Given the description of an element on the screen output the (x, y) to click on. 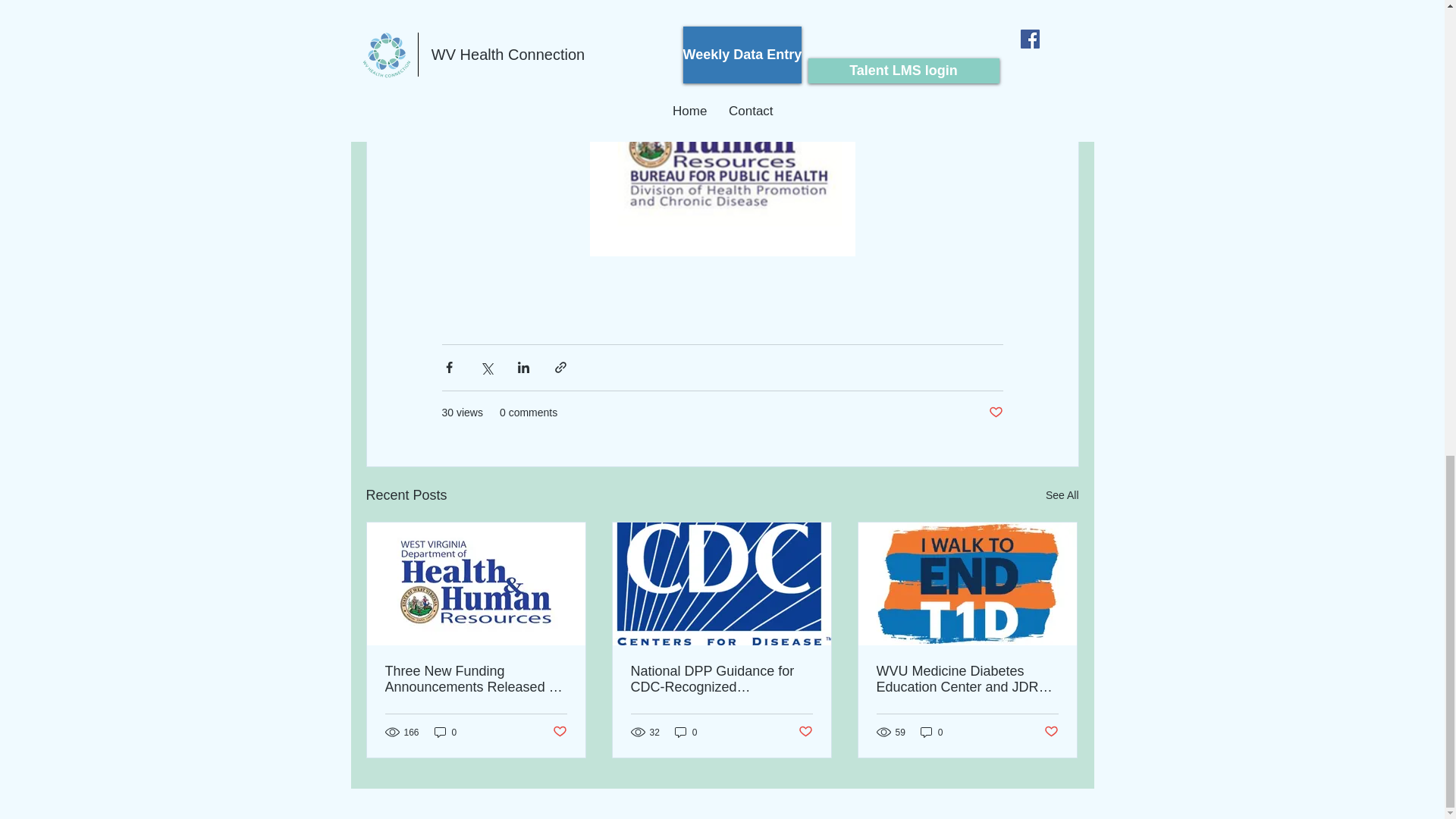
0 (445, 731)
0 (685, 731)
National DPP Guidance for CDC-Recognized Organizations (721, 679)
Post not marked as liked (1050, 731)
Post not marked as liked (995, 412)
See All (1061, 495)
Post not marked as liked (804, 731)
Post not marked as liked (558, 731)
0 (931, 731)
